Given the description of an element on the screen output the (x, y) to click on. 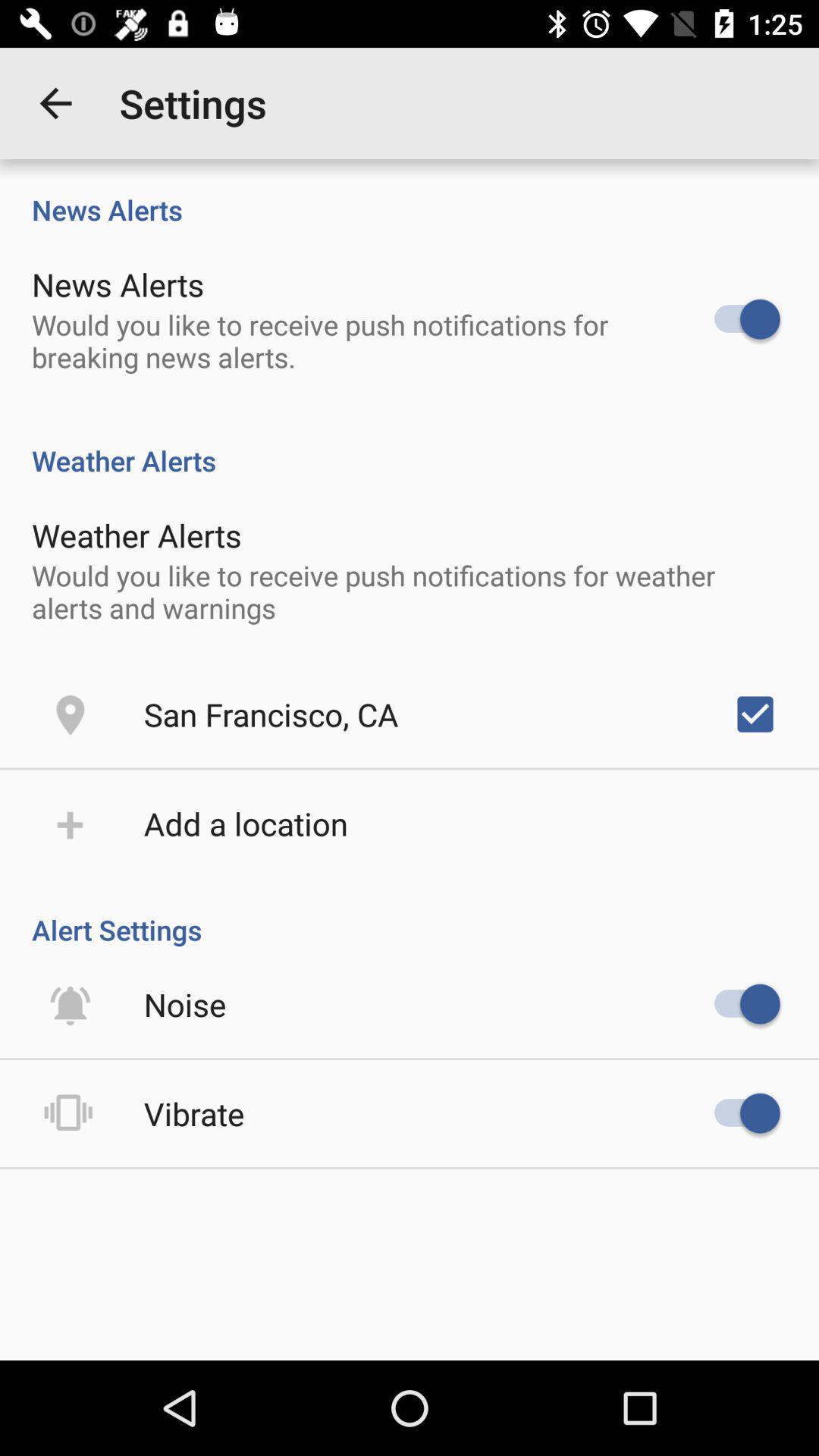
click the san francisco, ca icon (270, 713)
